Given the description of an element on the screen output the (x, y) to click on. 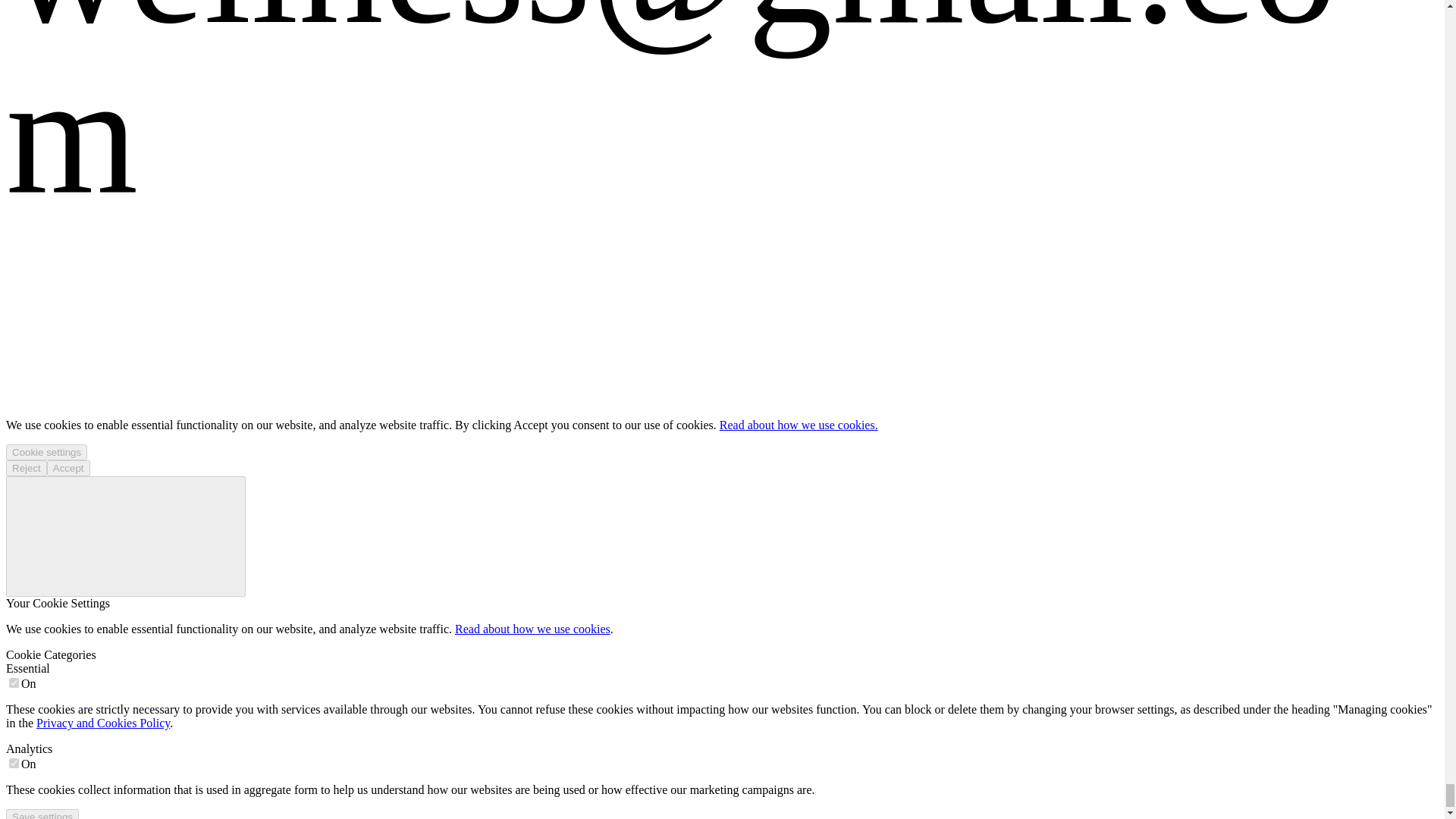
on (13, 763)
Reject (25, 467)
Cookie settings (46, 452)
Privacy and Cookies Policy (103, 722)
Accept (68, 467)
Read about how we use cookies. (798, 424)
Read about how we use cookies (532, 628)
on (13, 682)
